Given the description of an element on the screen output the (x, y) to click on. 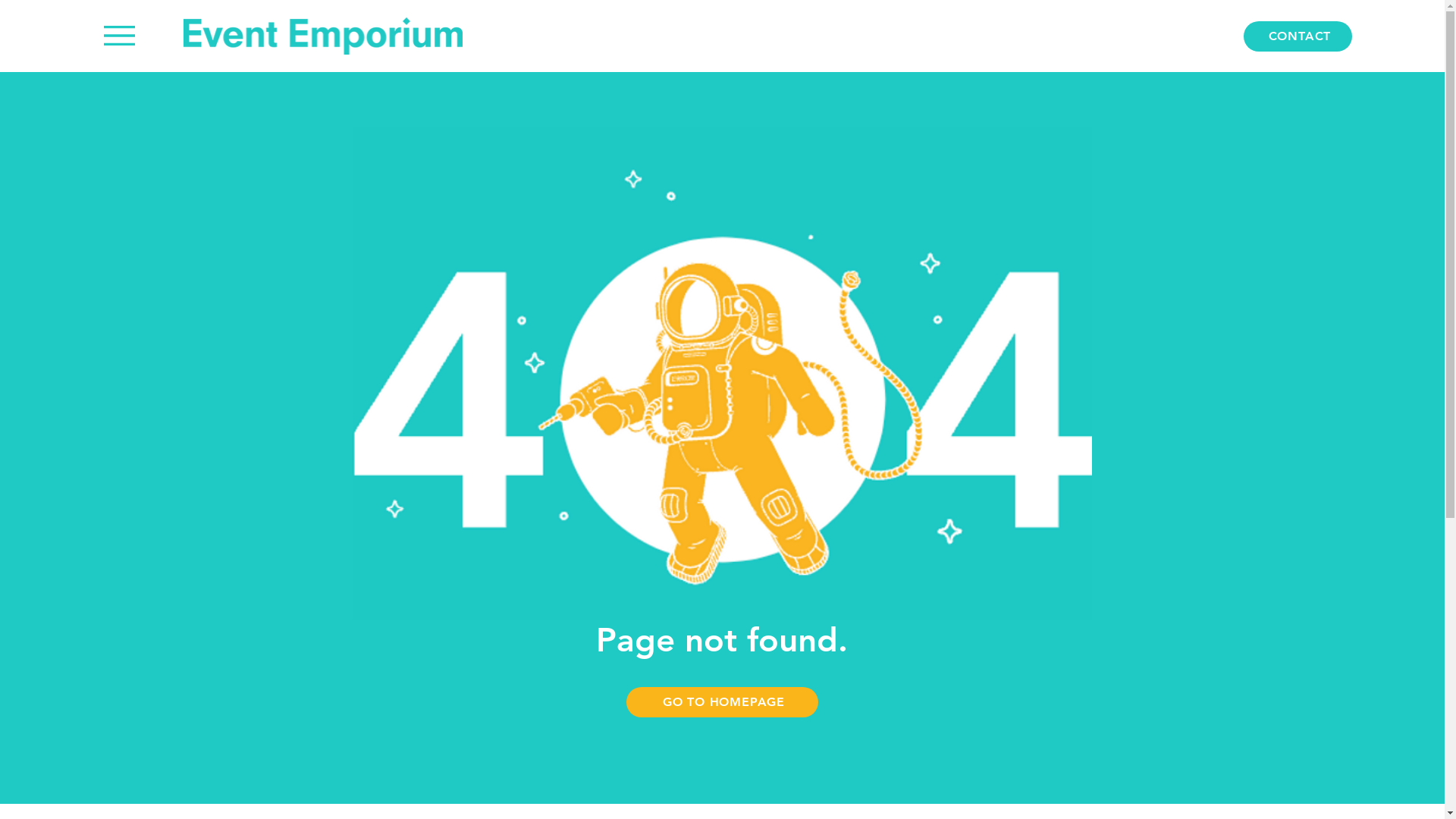
GO TO HOMEPAGE Element type: text (722, 702)
CONTACT Element type: text (1297, 36)
